Given the description of an element on the screen output the (x, y) to click on. 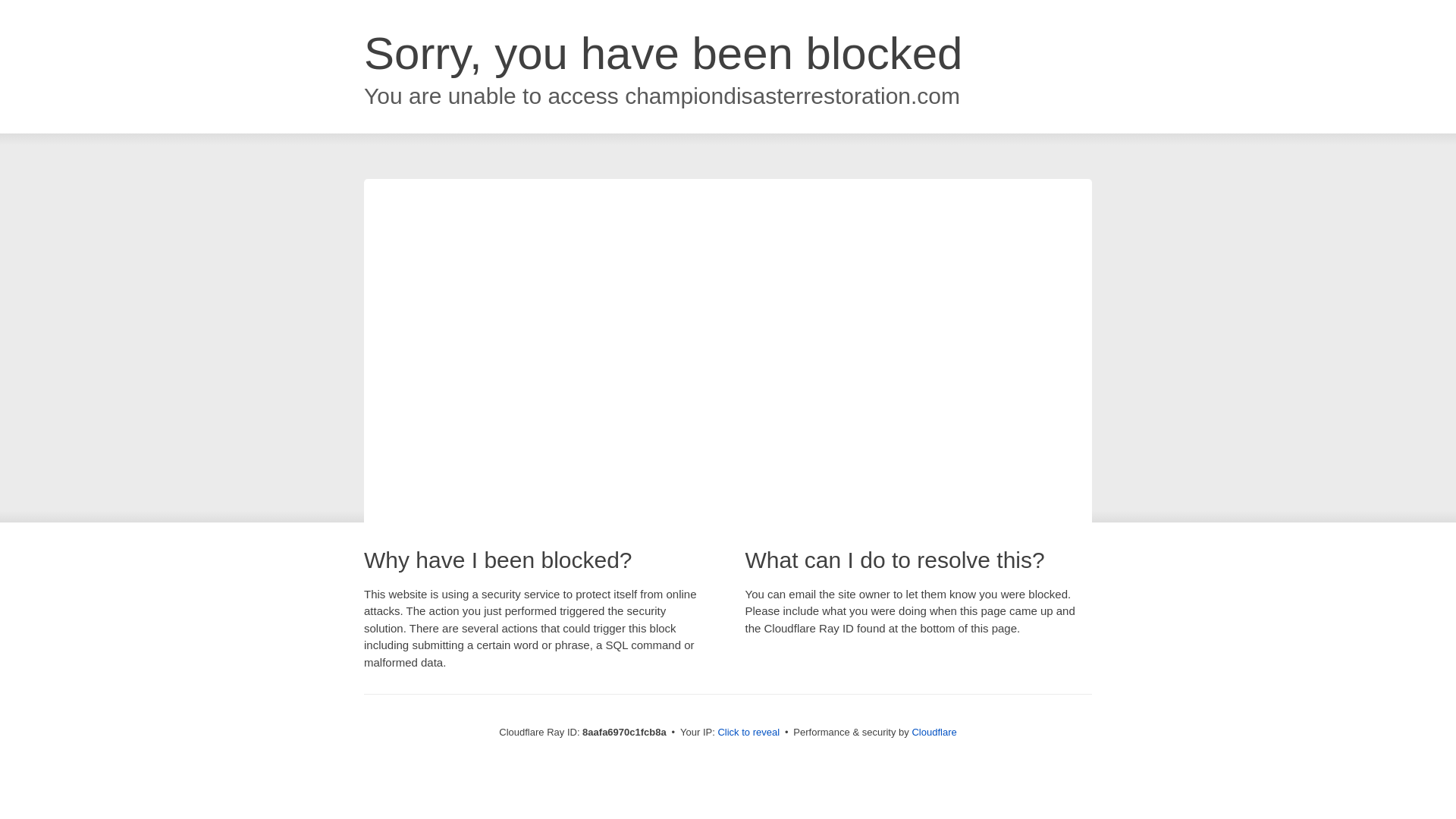
Click to reveal (747, 732)
Cloudflare (933, 731)
